Given the description of an element on the screen output the (x, y) to click on. 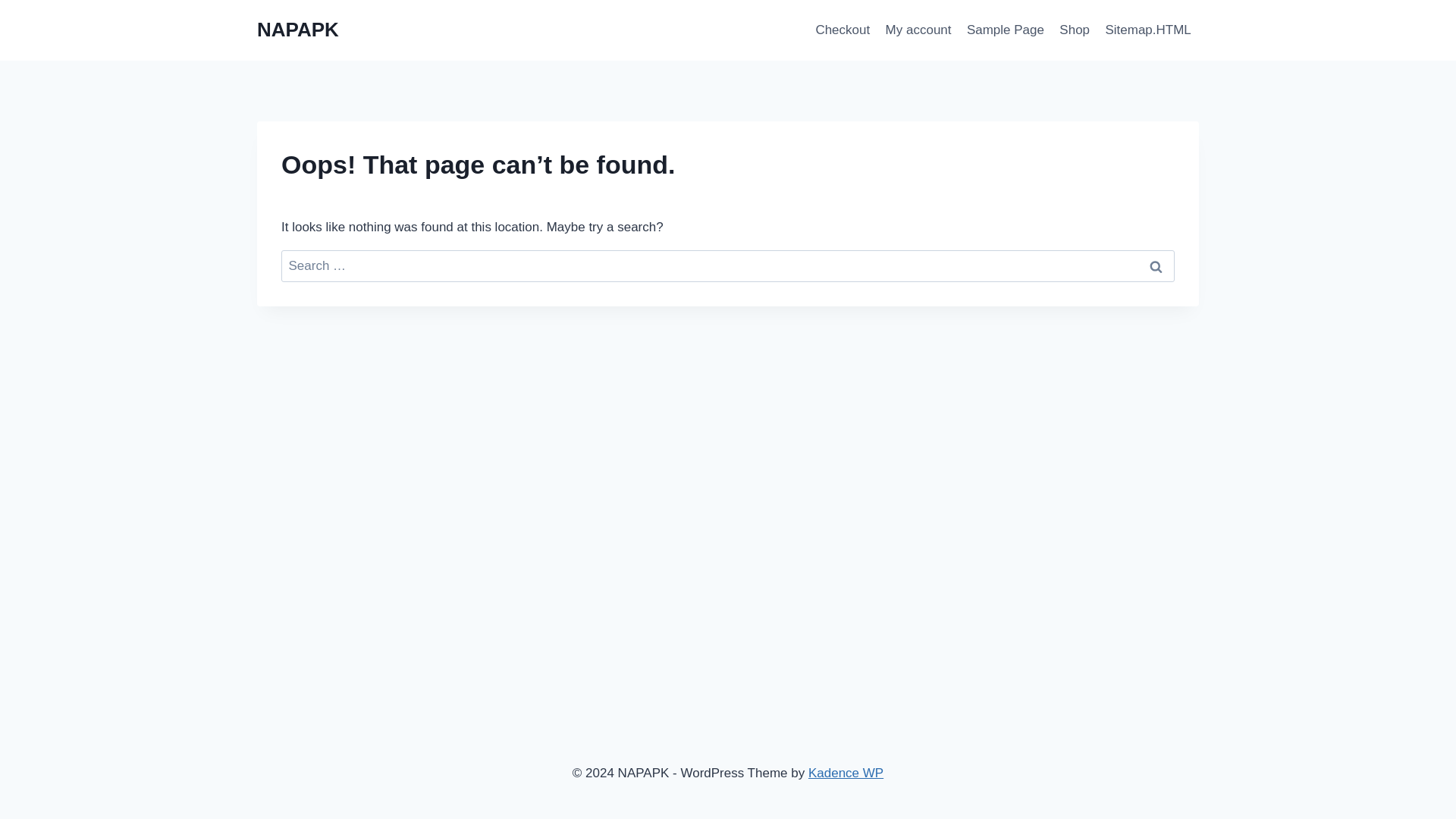
Search (1155, 266)
Checkout (842, 30)
Sitemap.HTML (1147, 30)
Search (1155, 266)
My account (917, 30)
Sample Page (1005, 30)
Shop (1074, 30)
NAPAPK (298, 29)
Kadence WP (845, 772)
Search (1155, 266)
